Given the description of an element on the screen output the (x, y) to click on. 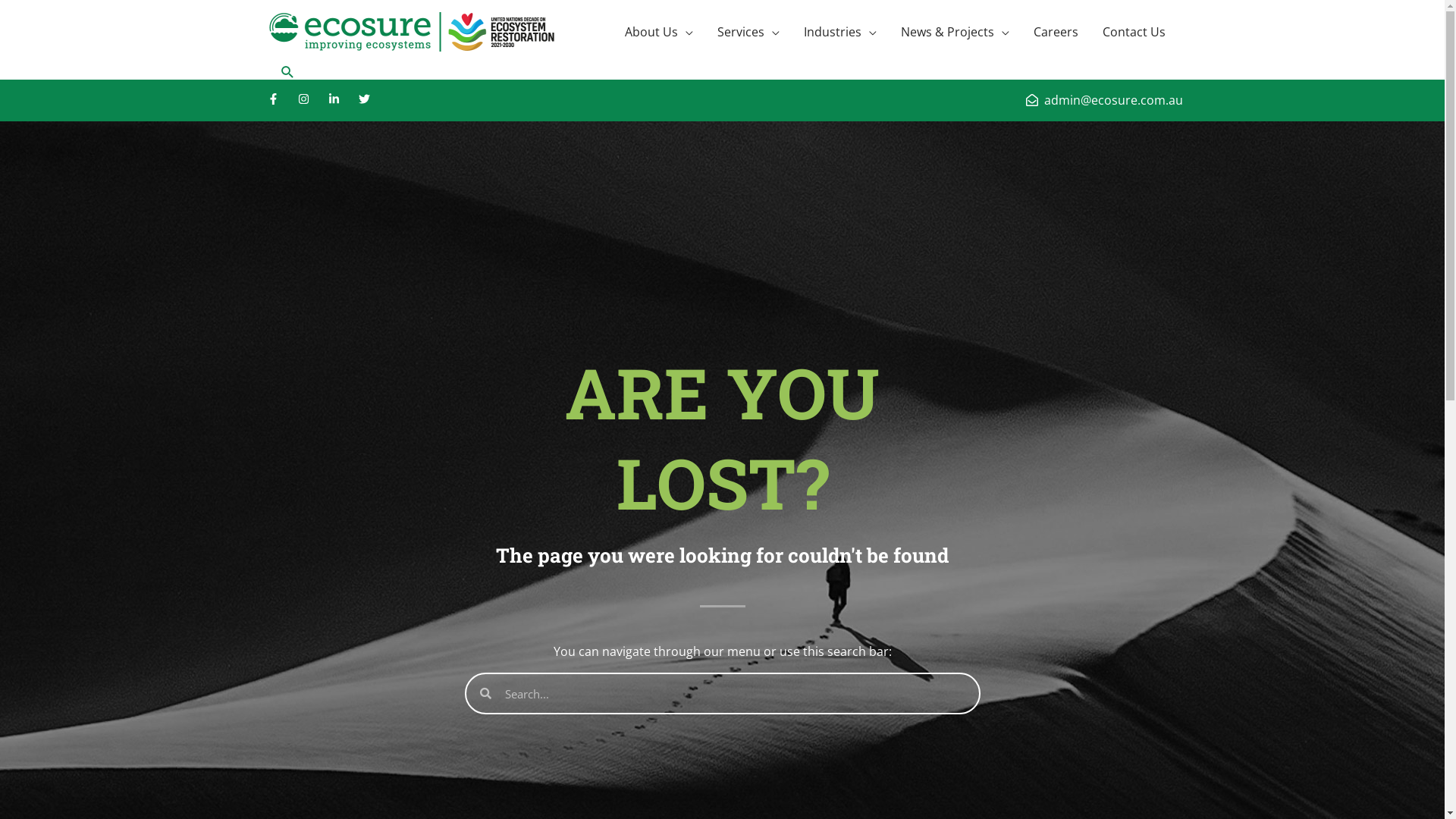
News & Projects Element type: text (954, 31)
Contact Us Element type: text (1133, 31)
Industries Element type: text (839, 31)
Services Element type: text (748, 31)
 admin@ecosure.com.au Element type: text (1103, 99)
Search Element type: text (286, 71)
About Us Element type: text (658, 31)
Careers Element type: text (1054, 31)
